Given the description of an element on the screen output the (x, y) to click on. 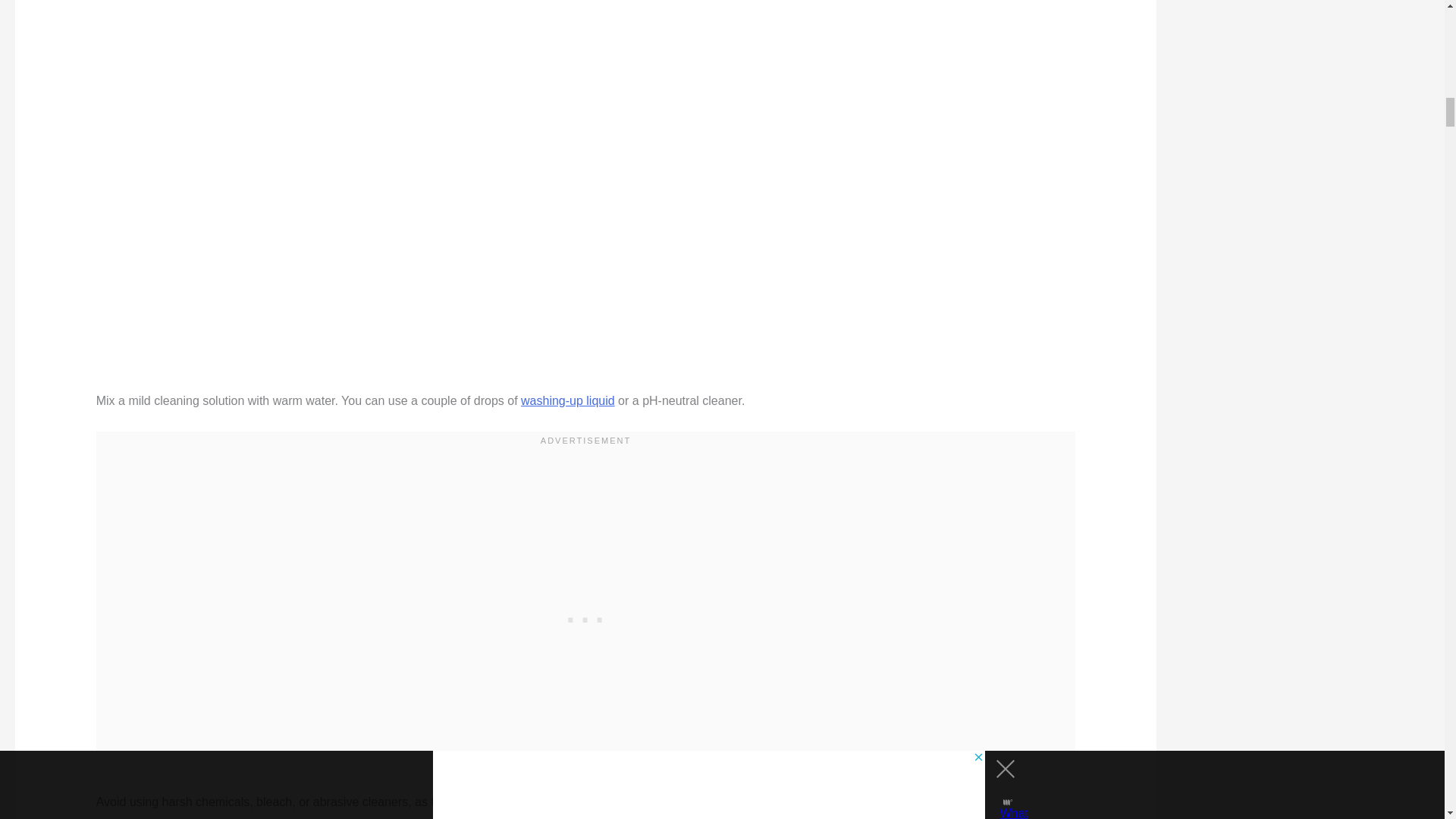
washing-up liquid (567, 400)
